Given the description of an element on the screen output the (x, y) to click on. 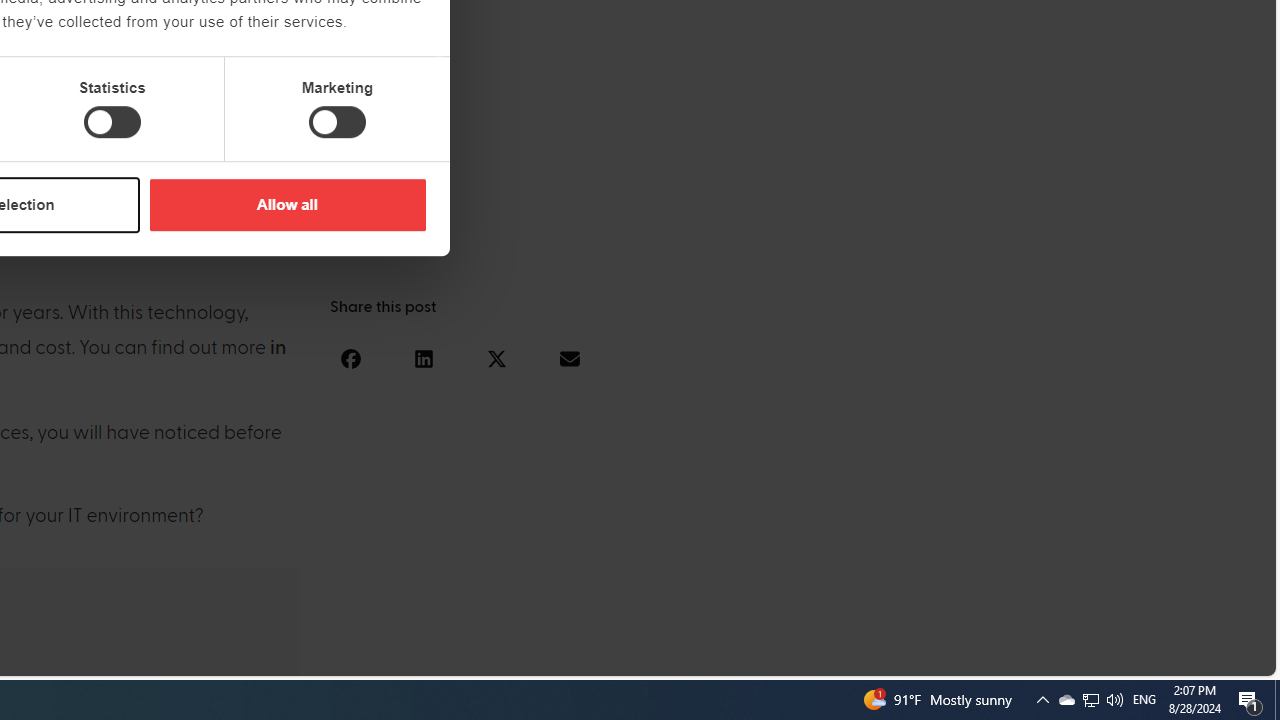
Language switcher : Polish (1005, 657)
Language switcher : French (906, 657)
Share on facebook (350, 358)
Language switcher : Czech (1205, 657)
Language switcher : German (885, 657)
Language switcher : Danish (1025, 657)
Share on email (569, 358)
Language switcher : Spanish (925, 657)
Language switcher : Italian (945, 657)
Language switcher : Croatian (1045, 657)
Language switcher : Klingon (1226, 657)
Share on linkedin (423, 358)
Language switcher : Romanian (1126, 657)
Share on x-twitter (496, 358)
Language switcher : Slovak (1085, 657)
